Given the description of an element on the screen output the (x, y) to click on. 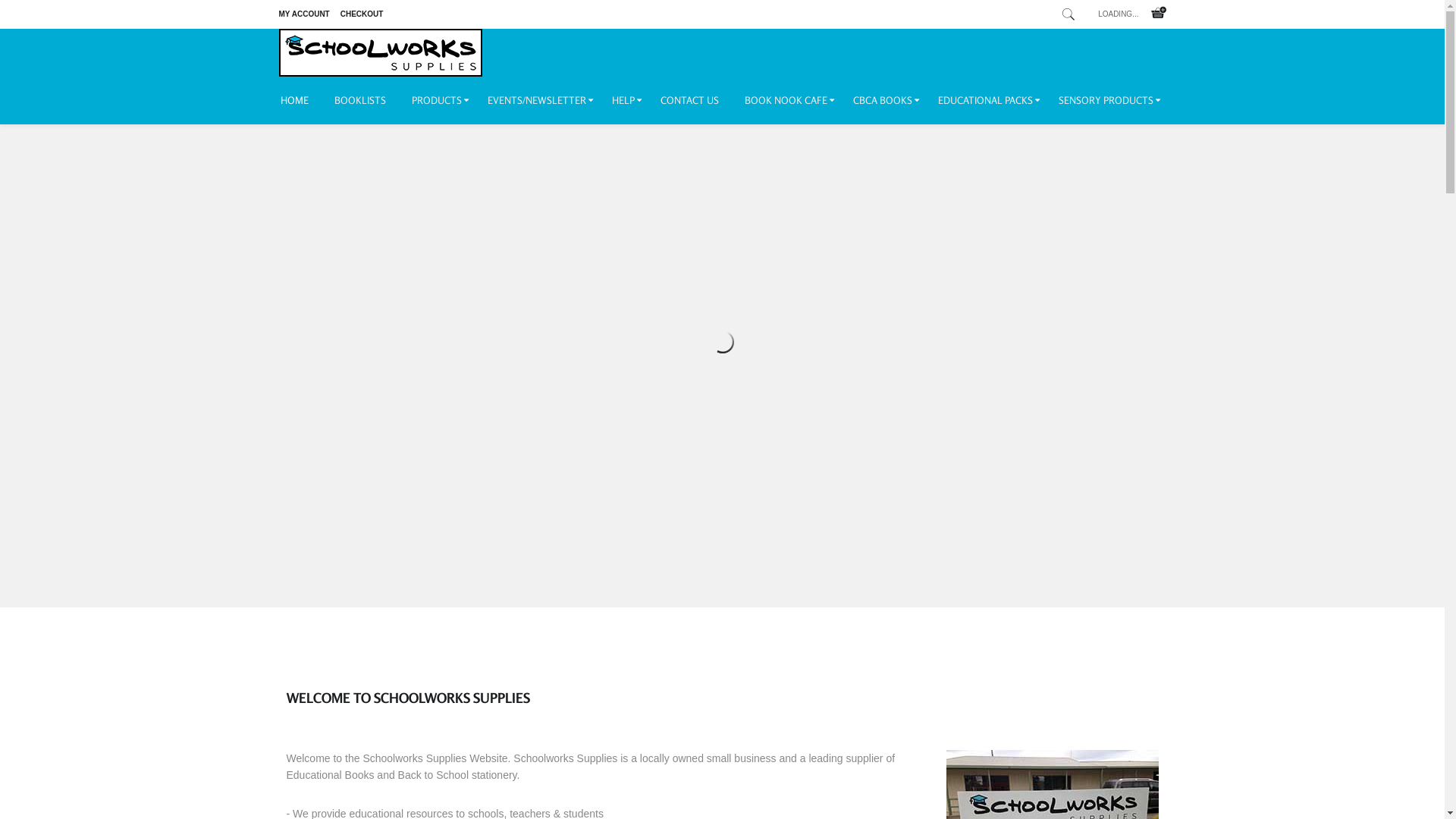
CBCA BOOKS Element type: text (882, 100)
BOOKLISTS Element type: text (359, 100)
HELP Element type: text (623, 100)
EDUCATIONAL PACKS Element type: text (985, 100)
PRODUCTS Element type: text (436, 100)
BOOK NOOK CAFE Element type: text (785, 100)
CHECKOUT Element type: text (361, 14)
EVENTS/NEWSLETTER Element type: text (536, 100)
CONTACT US Element type: text (689, 100)
HOME Element type: text (300, 100)
SENSORY PRODUCTS Element type: text (1104, 100)
MY ACCOUNT Element type: text (304, 14)
